Given the description of an element on the screen output the (x, y) to click on. 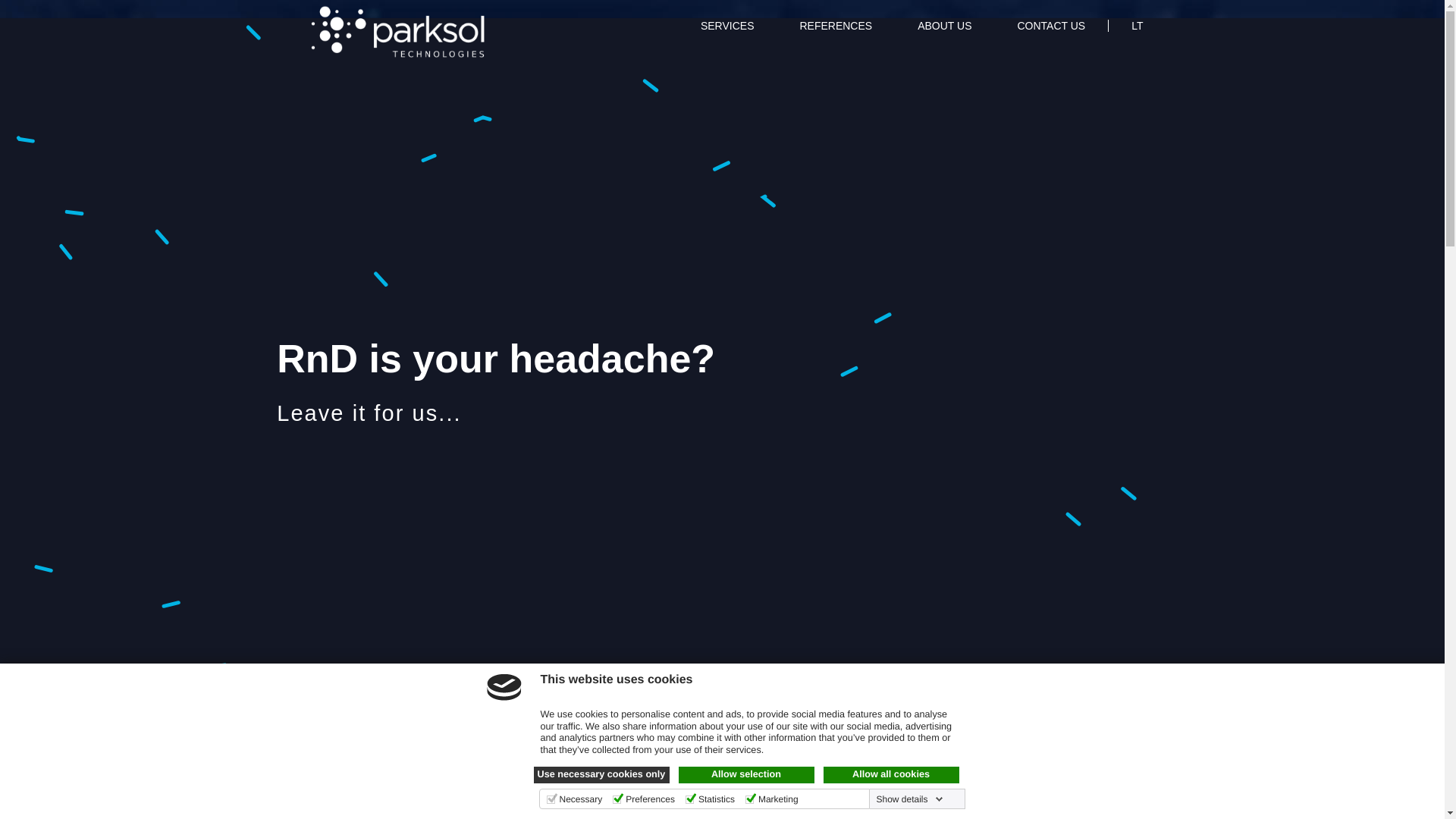
LT (1125, 31)
Allow all cookies (891, 774)
ABOUT US (944, 31)
REFERENCES (835, 31)
Use necessary cookies only (601, 774)
CONTACT US (1050, 31)
